Given the description of an element on the screen output the (x, y) to click on. 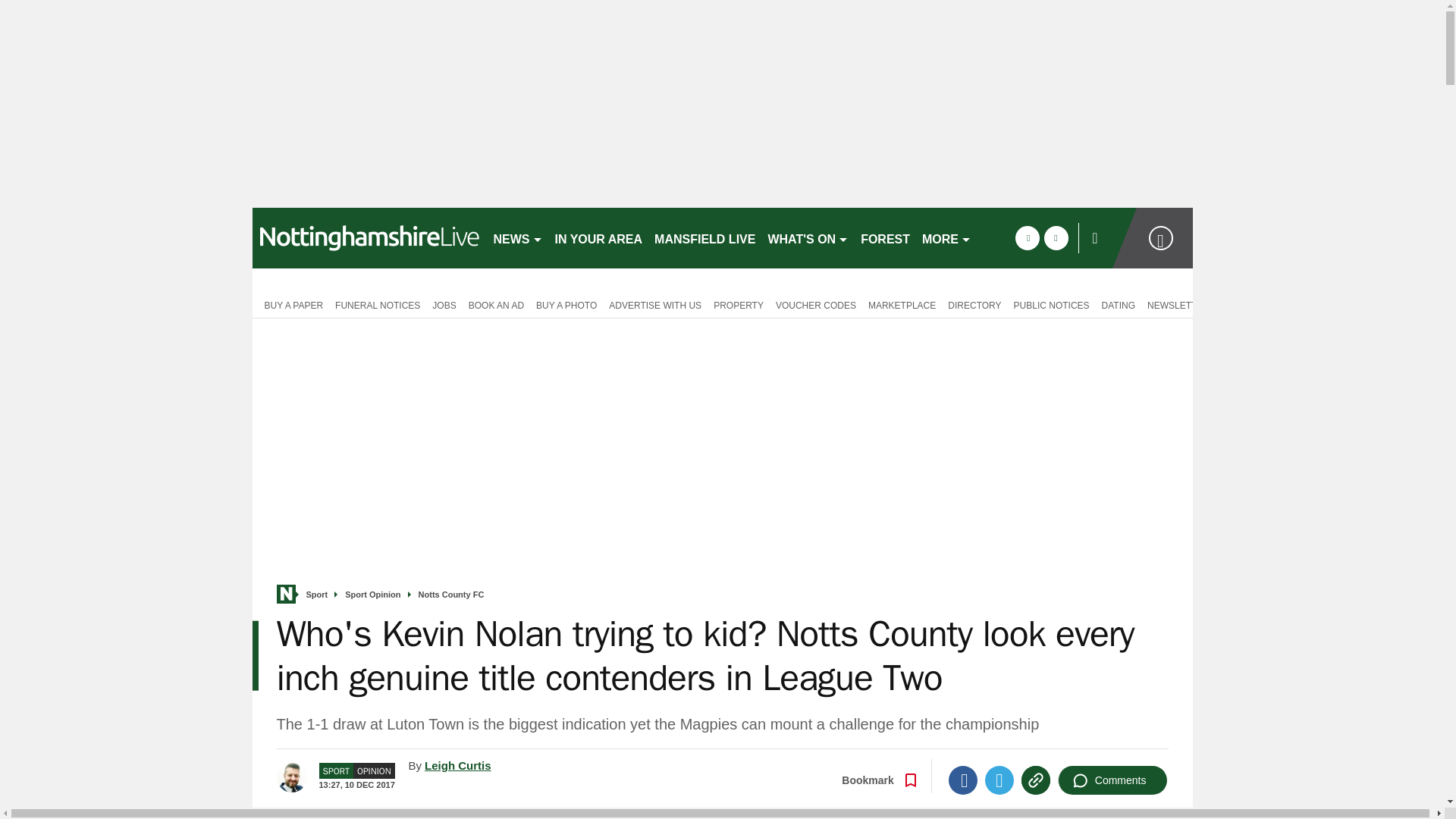
twitter (1055, 238)
IN YOUR AREA (598, 238)
FOREST (884, 238)
nottinghampost (365, 238)
MORE (945, 238)
Facebook (962, 779)
NEWS (517, 238)
MANSFIELD LIVE (704, 238)
Comments (1112, 779)
WHAT'S ON (807, 238)
